Given the description of an element on the screen output the (x, y) to click on. 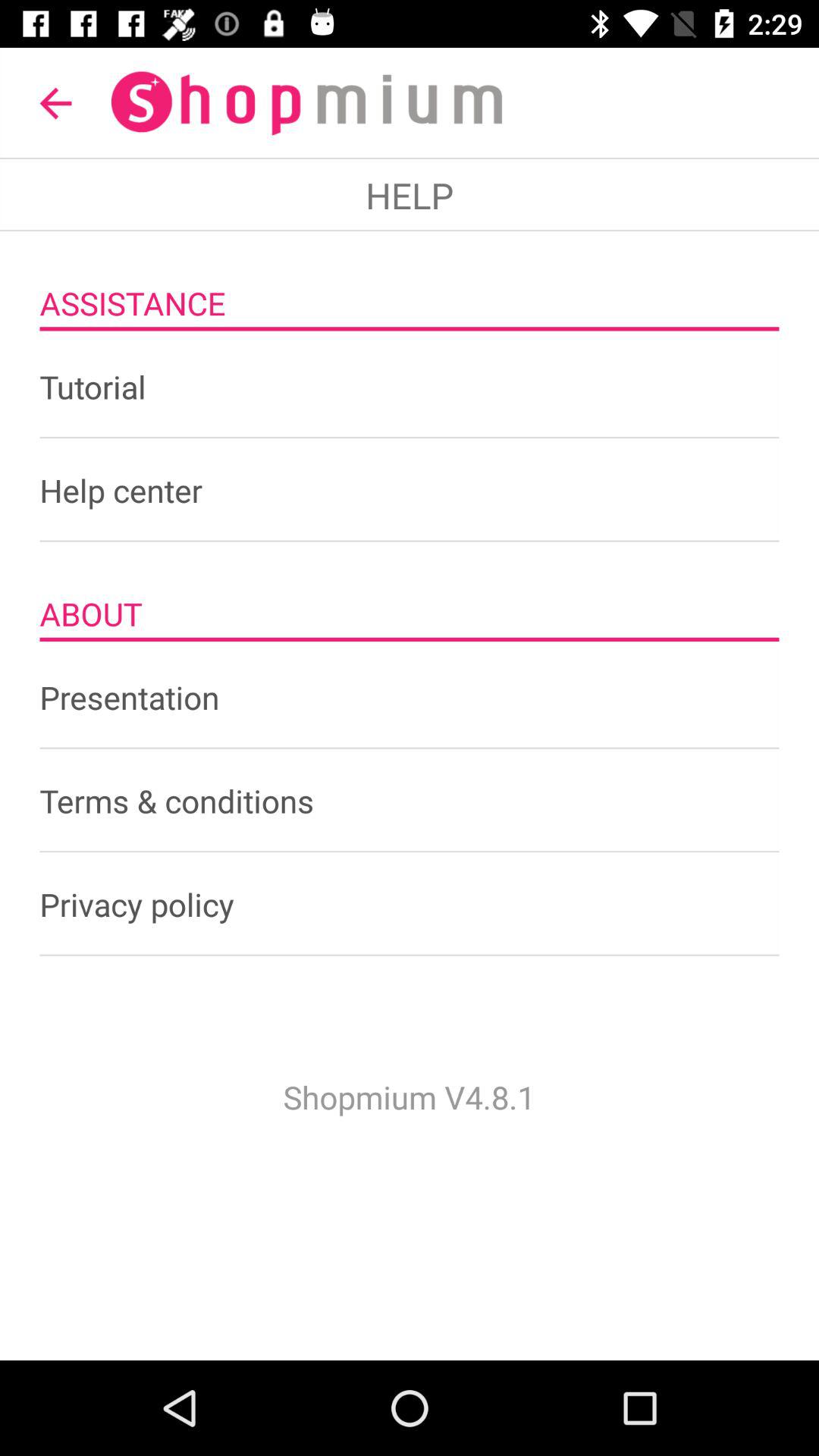
press the tutorial (409, 386)
